Given the description of an element on the screen output the (x, y) to click on. 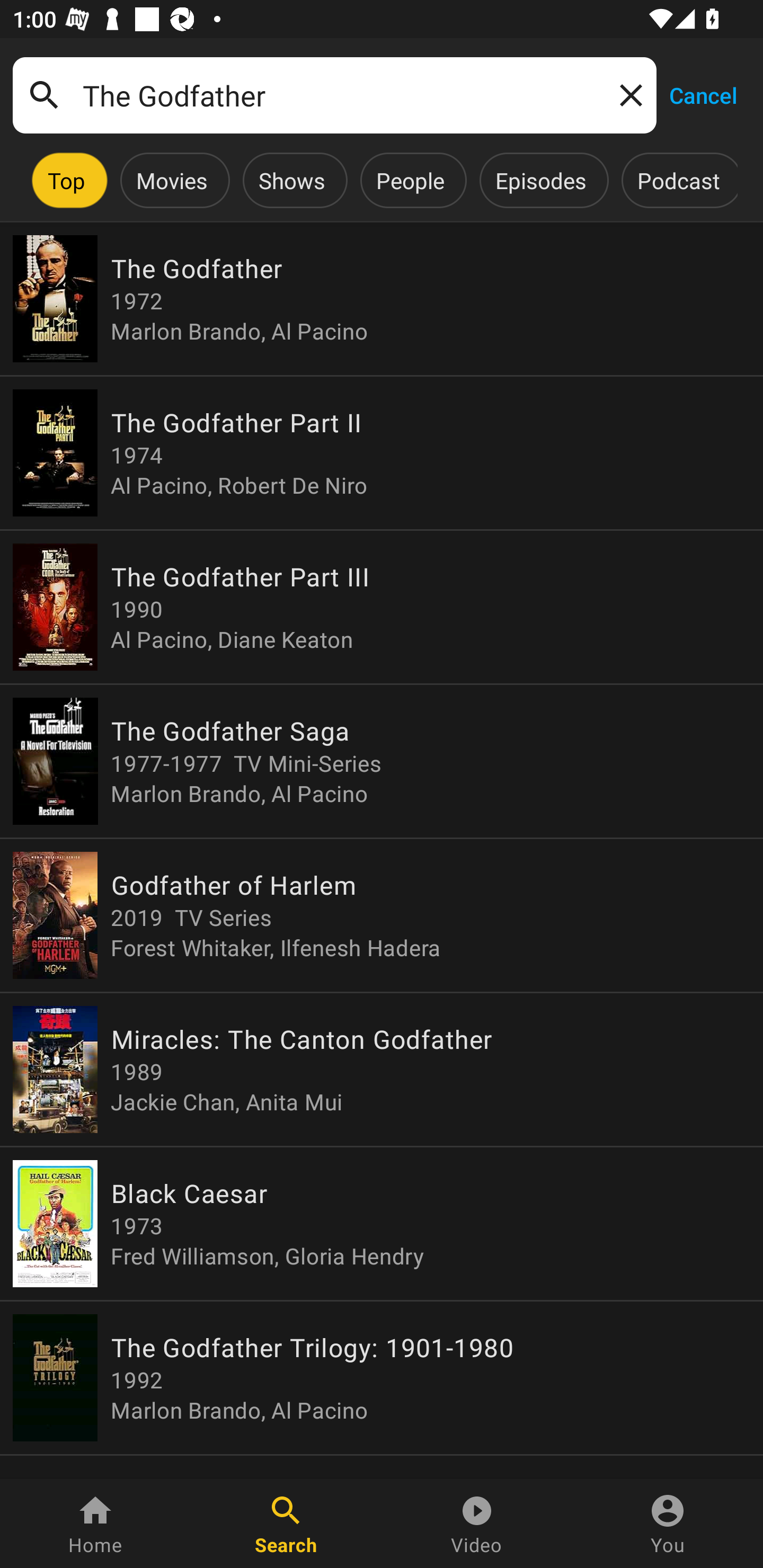
Clear query (627, 94)
Cancel (703, 94)
The Godfather (334, 95)
Top (66, 180)
Movies (171, 180)
Shows (291, 180)
People (410, 180)
Episodes (540, 180)
Podcast (678, 180)
The Godfather 1972 Marlon Brando, Al Pacino (381, 298)
Black Caesar 1973 Fred Williamson, Gloria Hendry (381, 1223)
Home (95, 1523)
Video (476, 1523)
You (667, 1523)
